Given the description of an element on the screen output the (x, y) to click on. 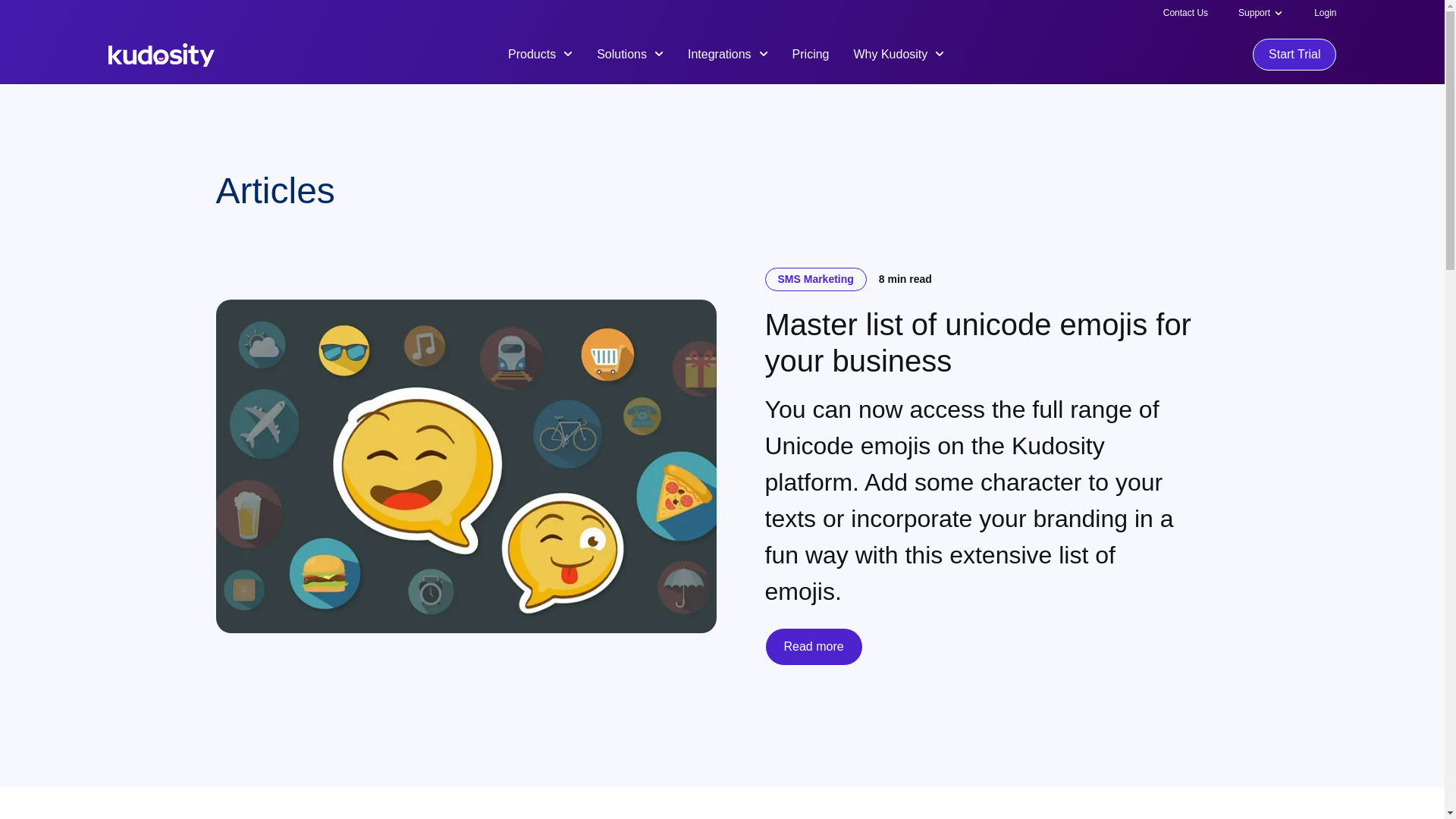
Products (540, 54)
Kudosity (160, 54)
Contact Us (1185, 12)
Support (1254, 12)
Login (1325, 12)
Solutions (629, 54)
